Given the description of an element on the screen output the (x, y) to click on. 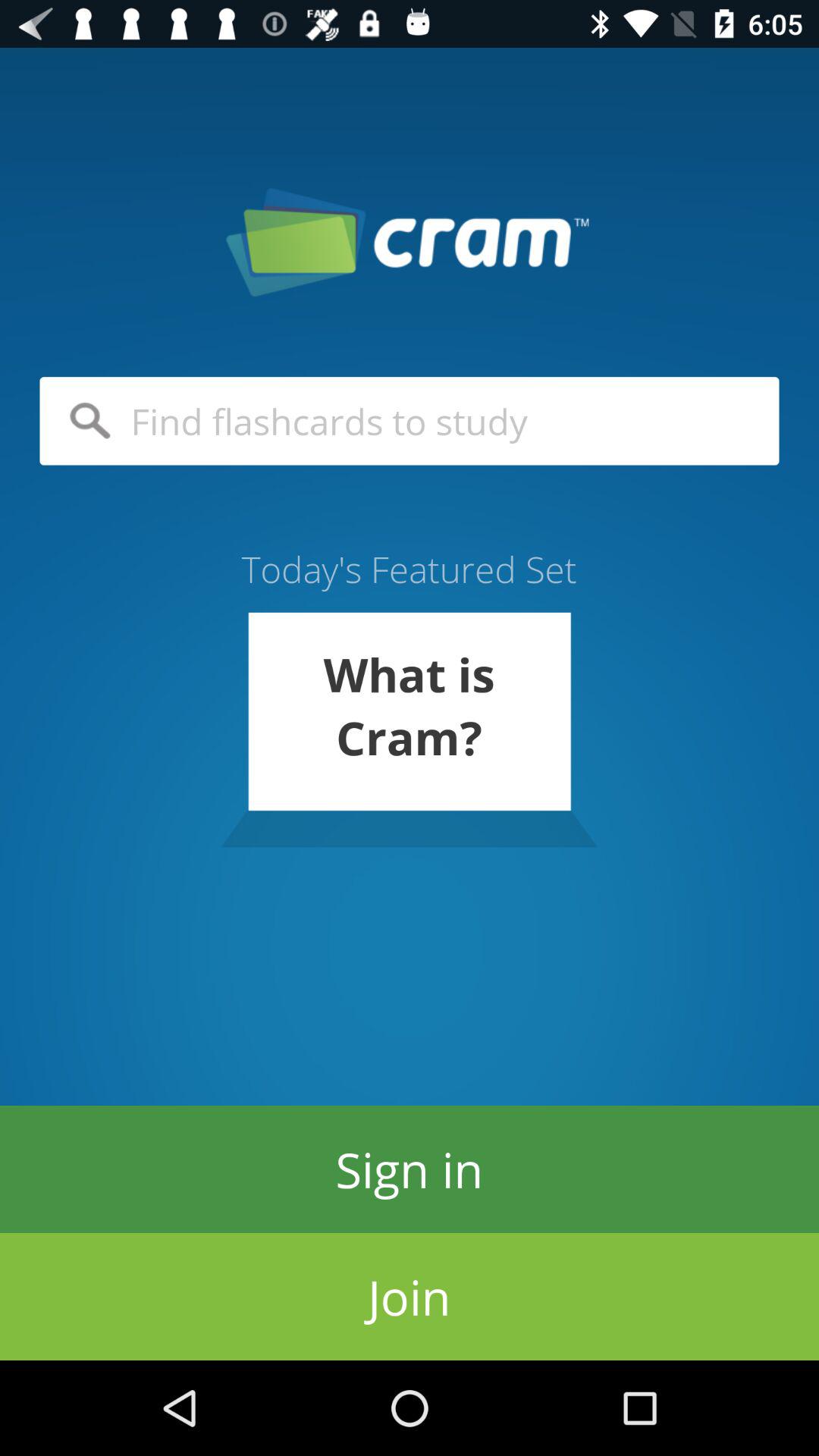
turn off find flashcards to (409, 421)
